Given the description of an element on the screen output the (x, y) to click on. 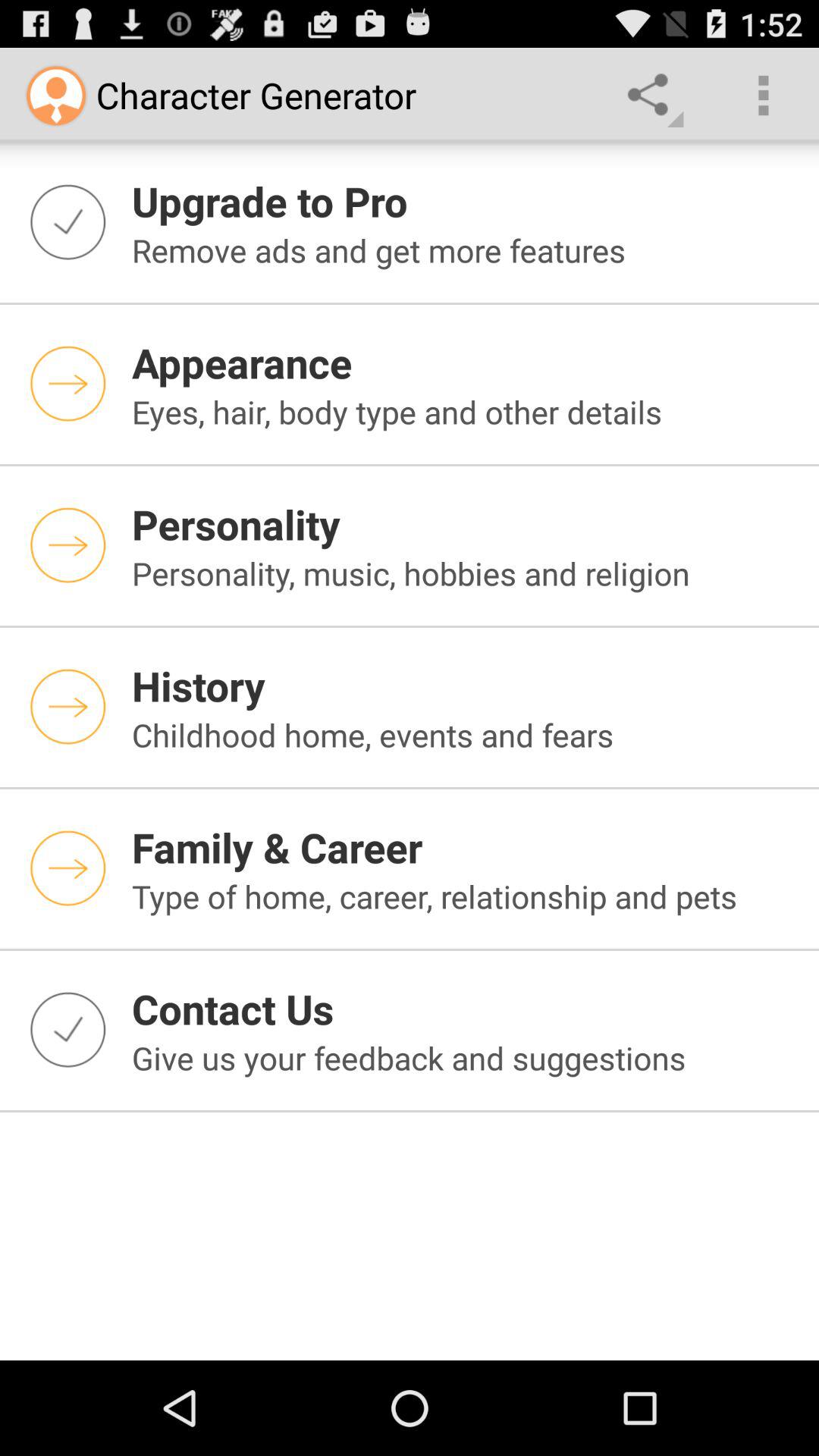
swipe until personality music hobbies (465, 572)
